Given the description of an element on the screen output the (x, y) to click on. 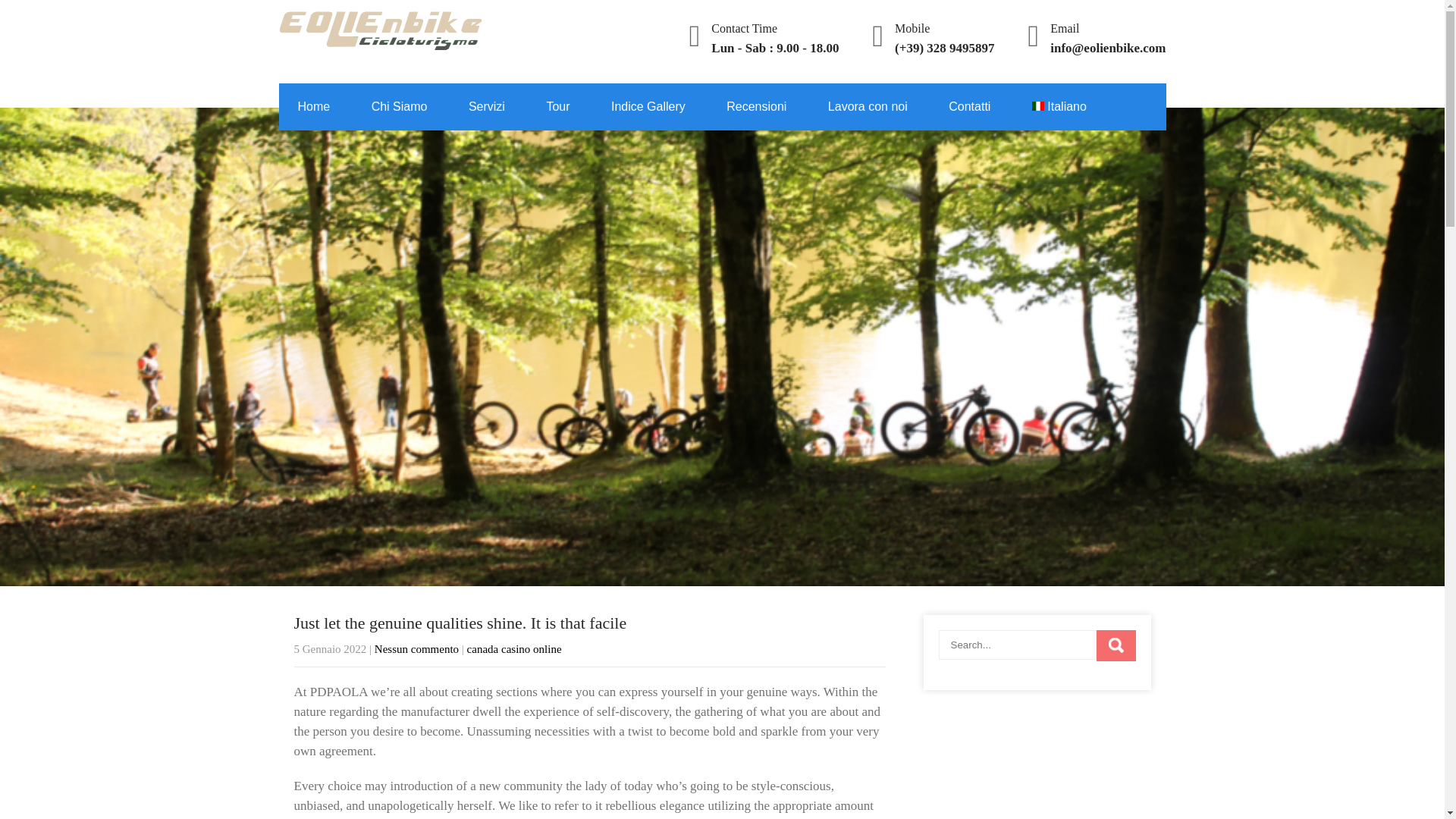
Indice Gallery (648, 106)
Chi Siamo (399, 106)
Search (1115, 644)
View all posts in canada casino online (514, 648)
Tour (557, 106)
Home (314, 106)
Search (1115, 644)
Servizi (486, 106)
